Given the description of an element on the screen output the (x, y) to click on. 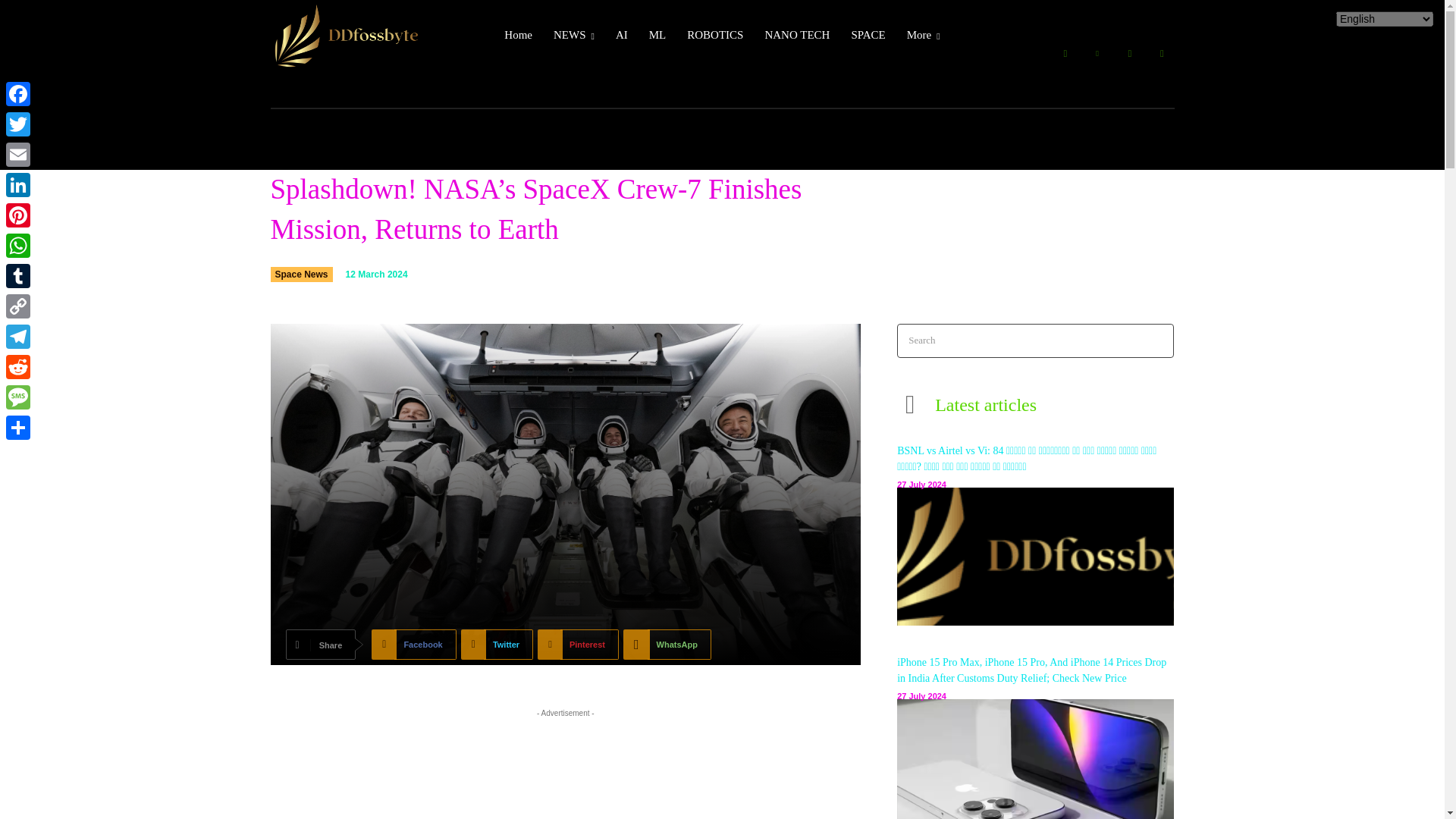
Twitter (496, 644)
Medium (1130, 53)
Facebook (413, 644)
Pinterest (577, 644)
Twitter (1162, 53)
Facebook (1064, 53)
Advertisement (566, 770)
WhatsApp (667, 644)
Linkedin (1096, 53)
